Given the description of an element on the screen output the (x, y) to click on. 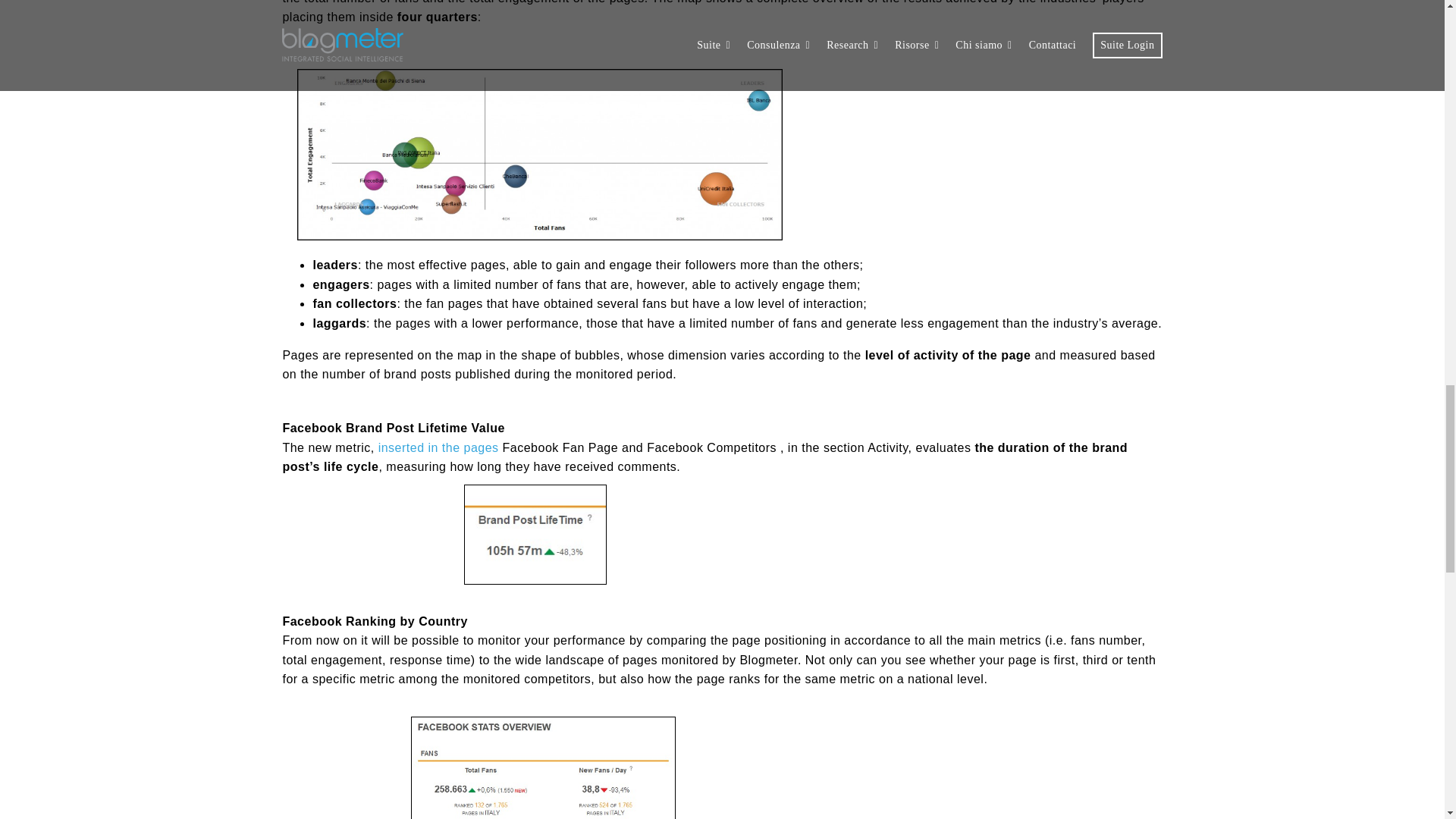
inserted in the pages (438, 447)
